Given the description of an element on the screen output the (x, y) to click on. 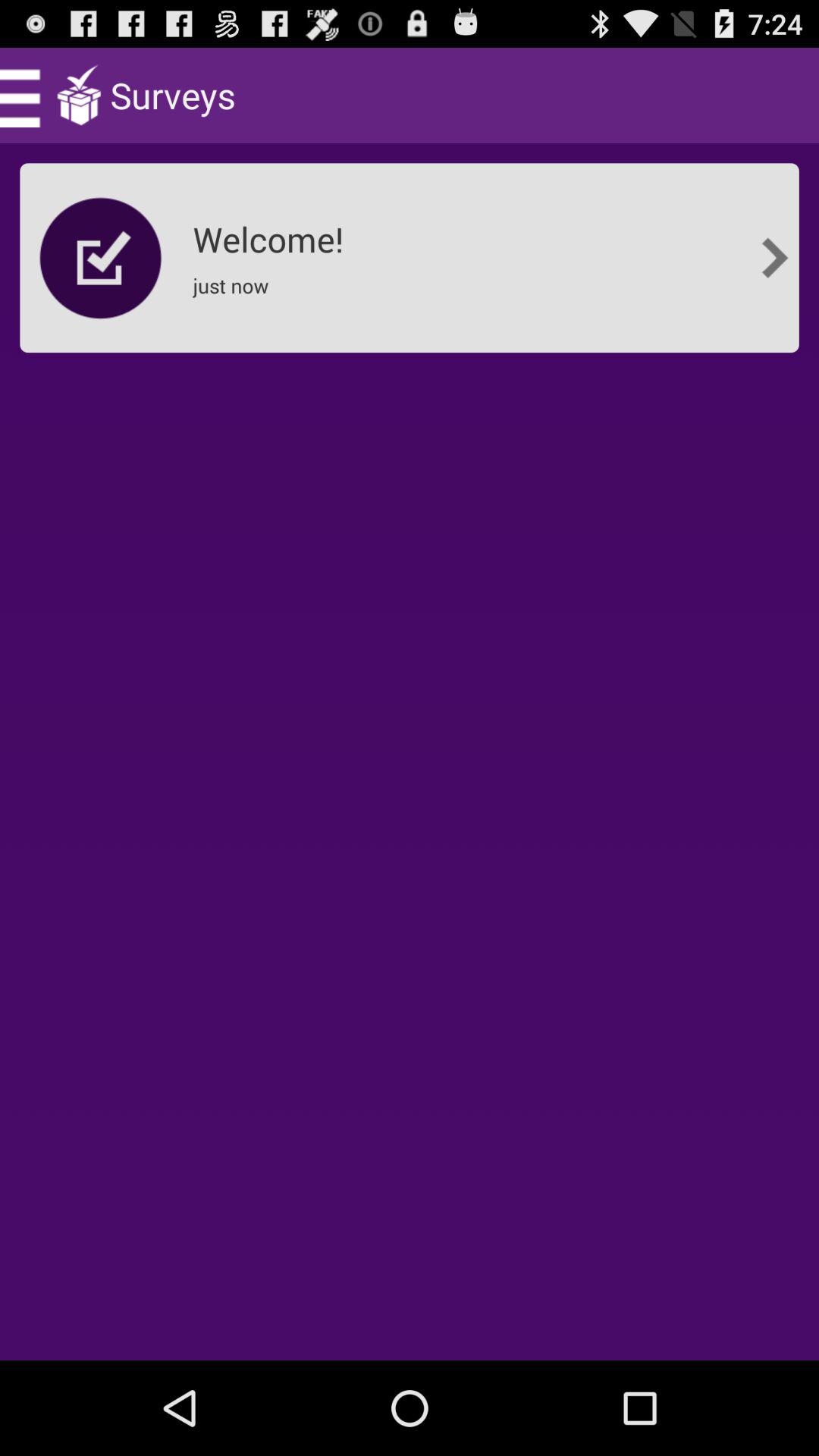
choose the item at the top right corner (774, 257)
